Given the description of an element on the screen output the (x, y) to click on. 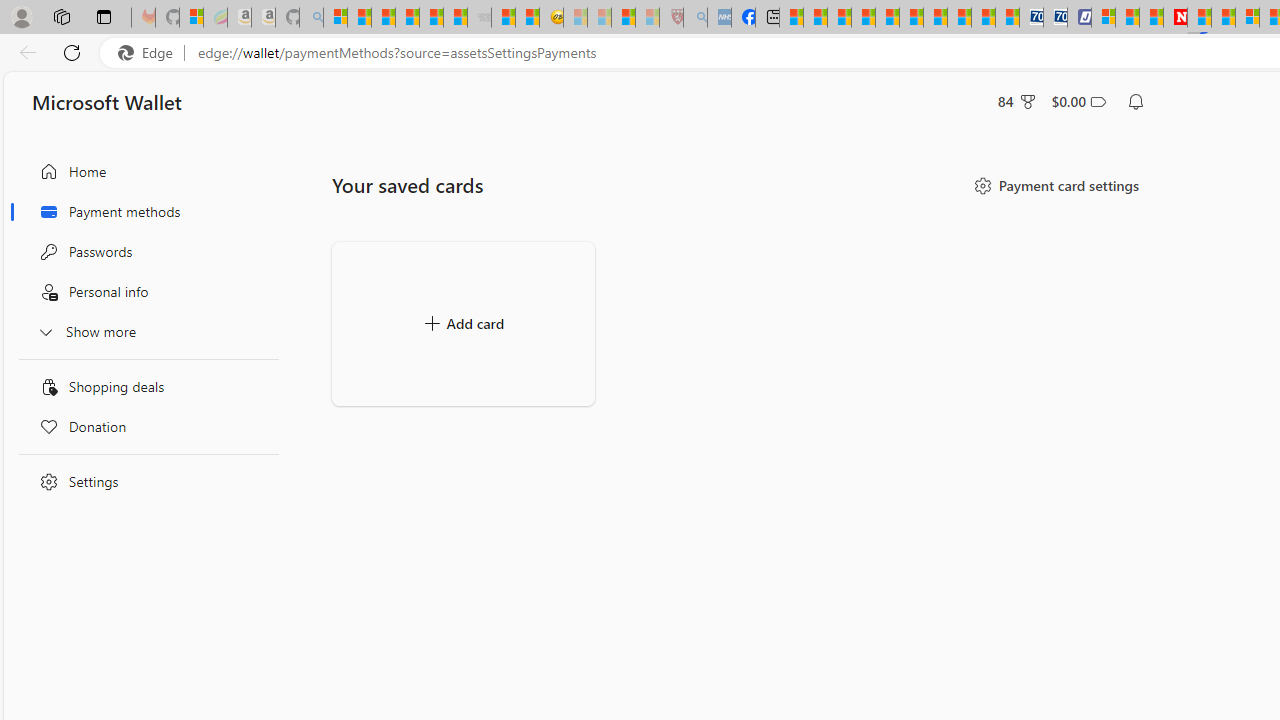
Microsoft Rewards - 84 points (1017, 101)
Notification (1136, 101)
Passwords (143, 252)
Payment card settings (1055, 185)
Class: ___1lmltc5 f1agt3bx f12qytpq (1098, 101)
Cheap Hotels - Save70.com (1055, 17)
